Given the description of an element on the screen output the (x, y) to click on. 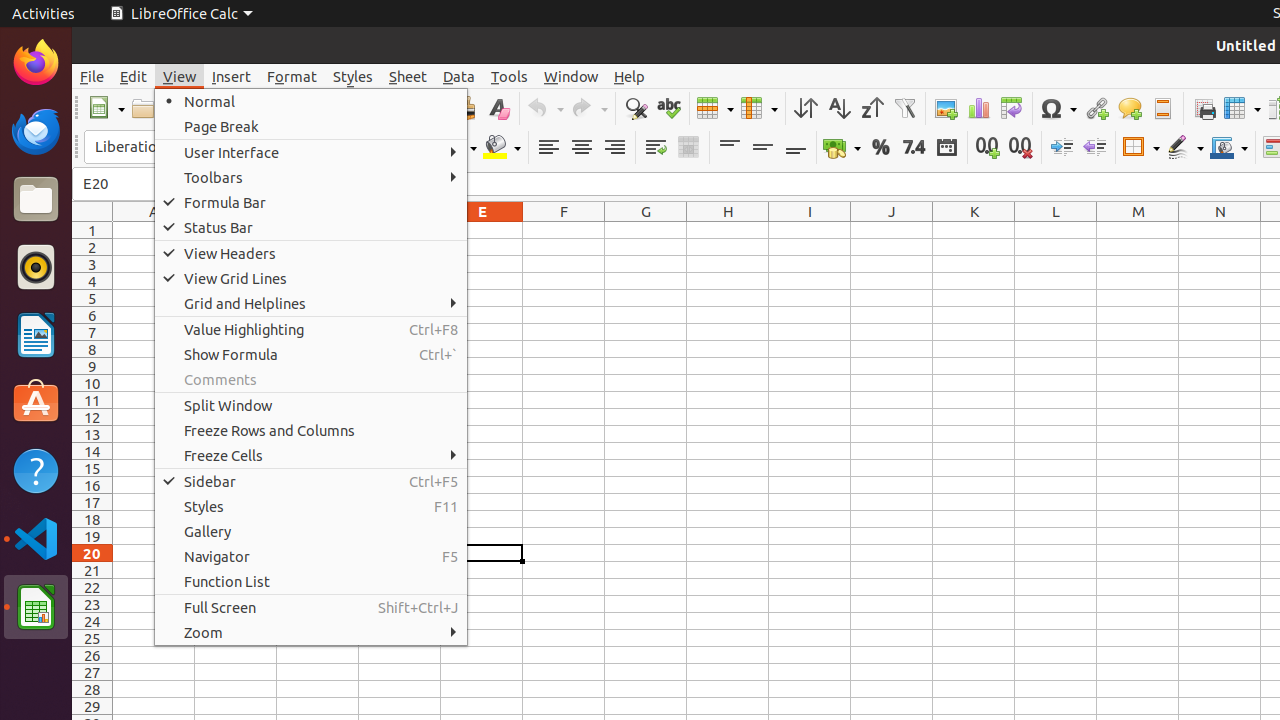
Freeze Rows and Columns Element type: push-button (1242, 108)
View Headers Element type: check-menu-item (311, 253)
B1 Element type: table-cell (236, 230)
Spelling Element type: push-button (668, 108)
Freeze Cells Element type: menu (311, 455)
